Given the description of an element on the screen output the (x, y) to click on. 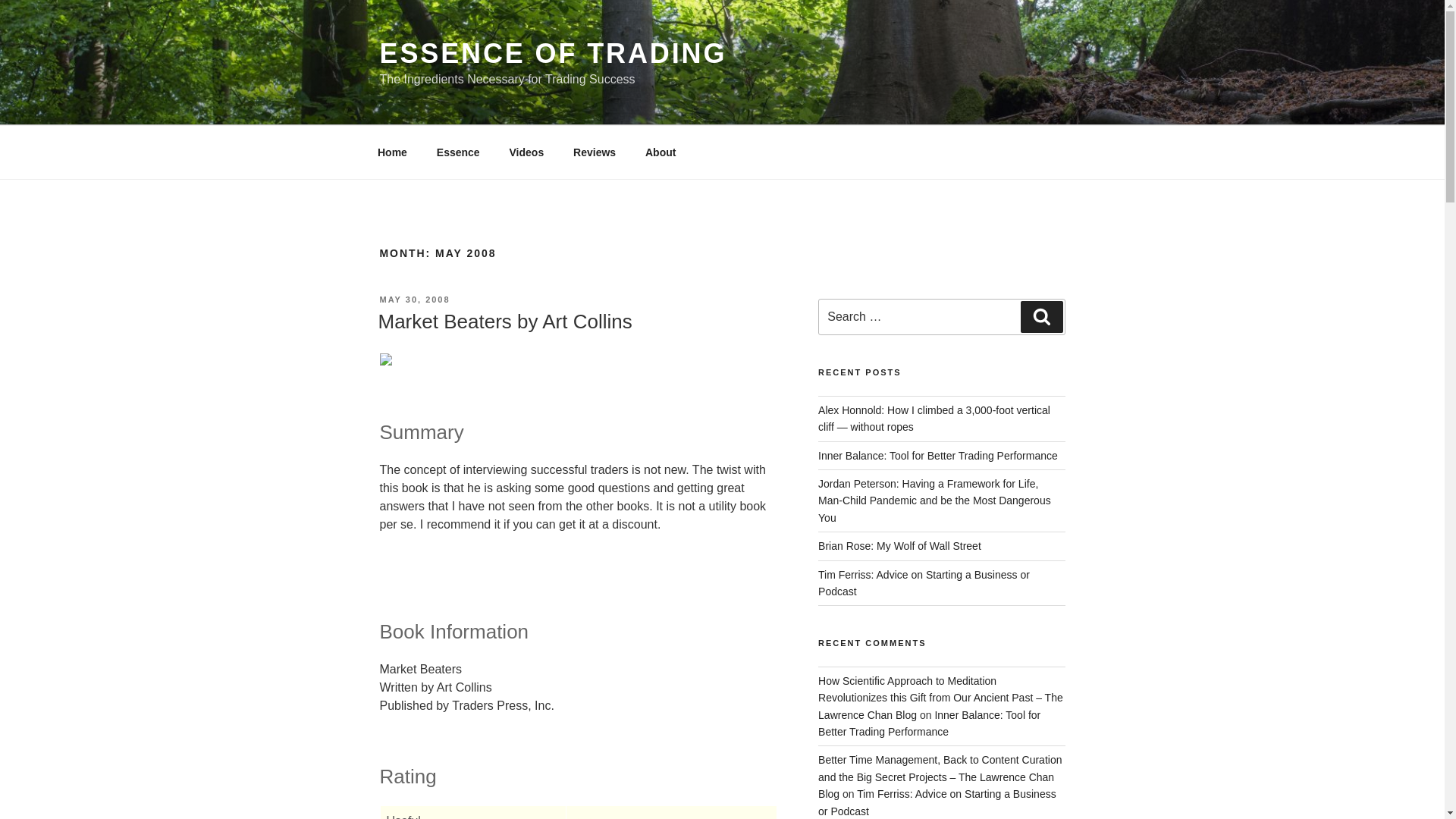
MAY 30, 2008 (413, 298)
Inner Balance: Tool for Better Trading Performance (938, 455)
About (659, 151)
Tim Ferriss: Advice on Starting a Business or Podcast (937, 801)
Reviews (594, 151)
ESSENCE OF TRADING (552, 52)
Brian Rose: My Wolf of Wall Street (899, 545)
Home (392, 151)
Tim Ferriss: Advice on Starting a Business or Podcast (923, 582)
Videos (526, 151)
